Given the description of an element on the screen output the (x, y) to click on. 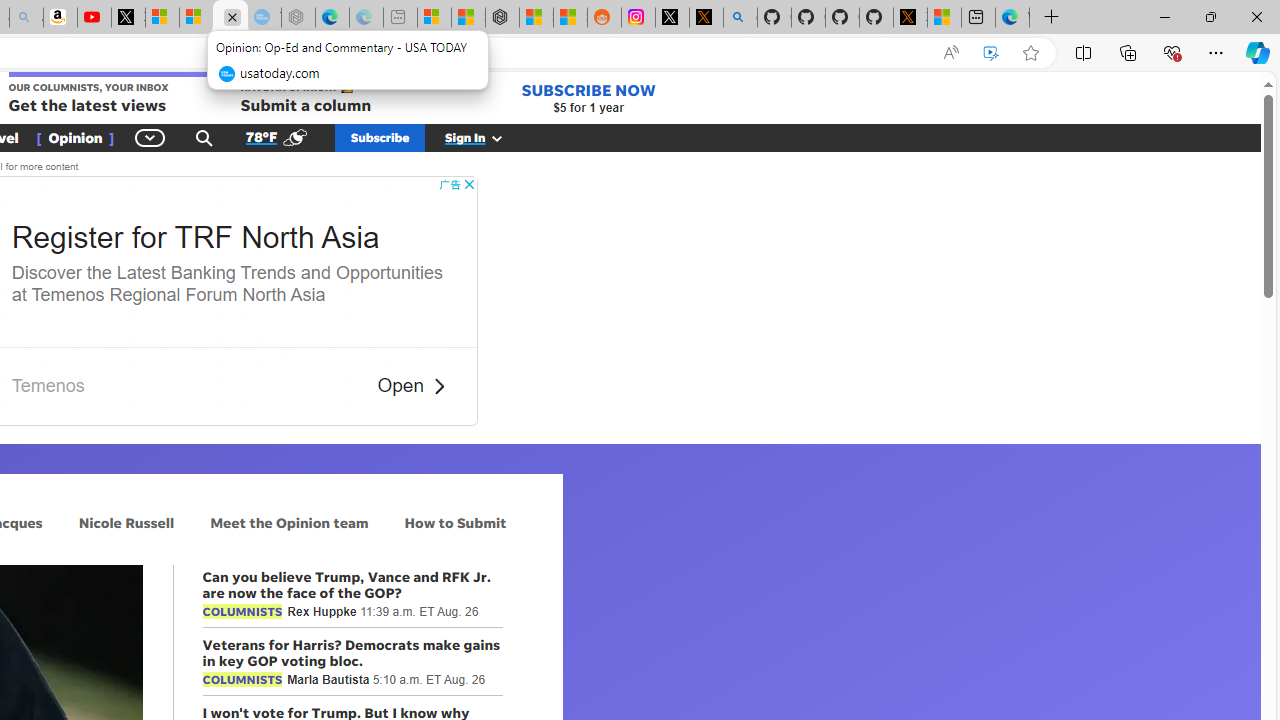
Class: ns-dqusr-e-26 flip-on-rtl (438, 386)
New tab (978, 17)
Shanghai, China Weather trends | Microsoft Weather (570, 17)
Amazon Echo Dot PNG - Search Images - Sleeping (26, 17)
